Given the description of an element on the screen output the (x, y) to click on. 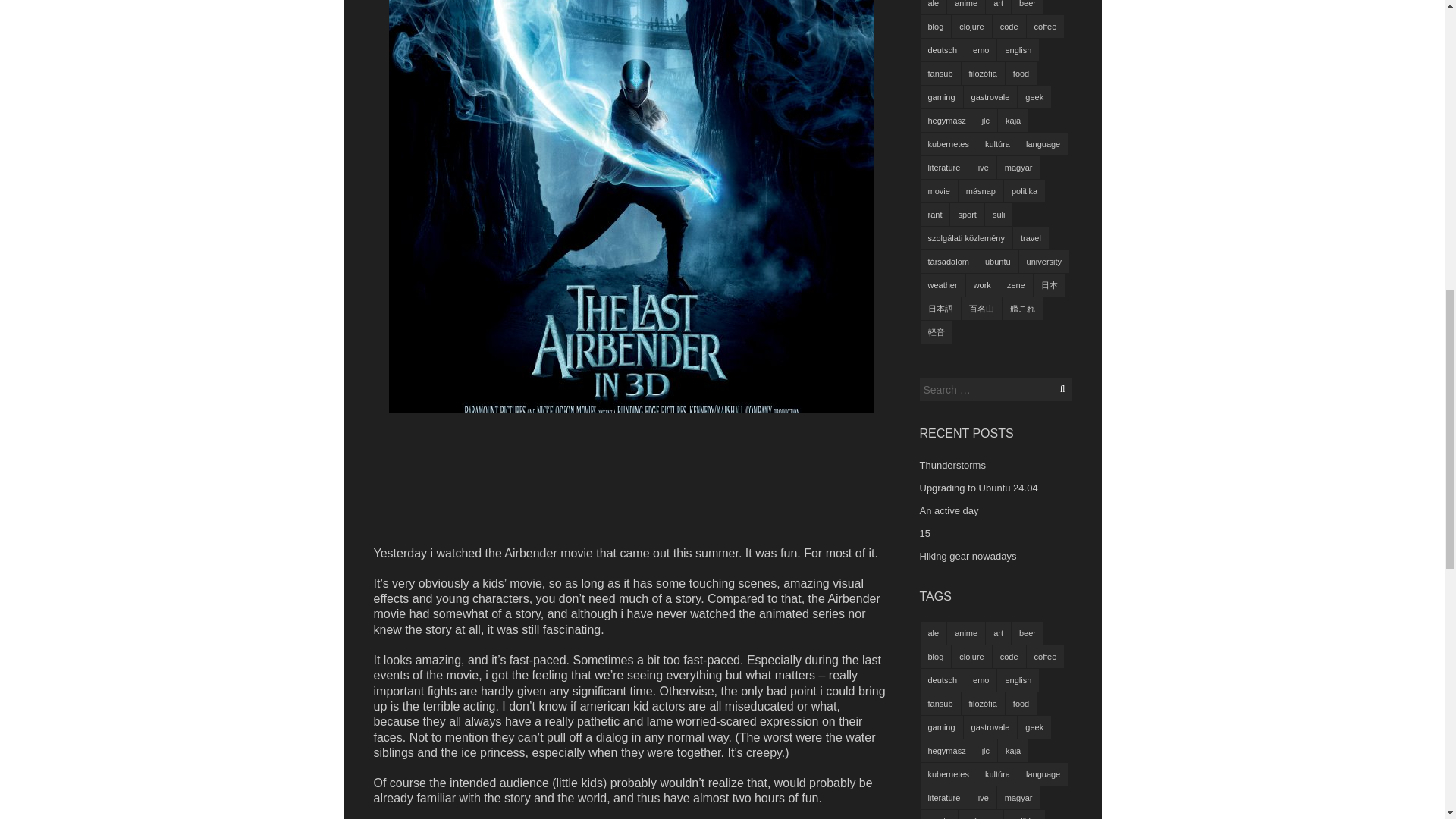
gastrovale (990, 96)
deutsch (942, 49)
emo (980, 49)
english (1018, 49)
art (997, 7)
code (1009, 26)
beer (1027, 7)
food (1021, 73)
gaming (941, 96)
blog (936, 26)
